Given the description of an element on the screen output the (x, y) to click on. 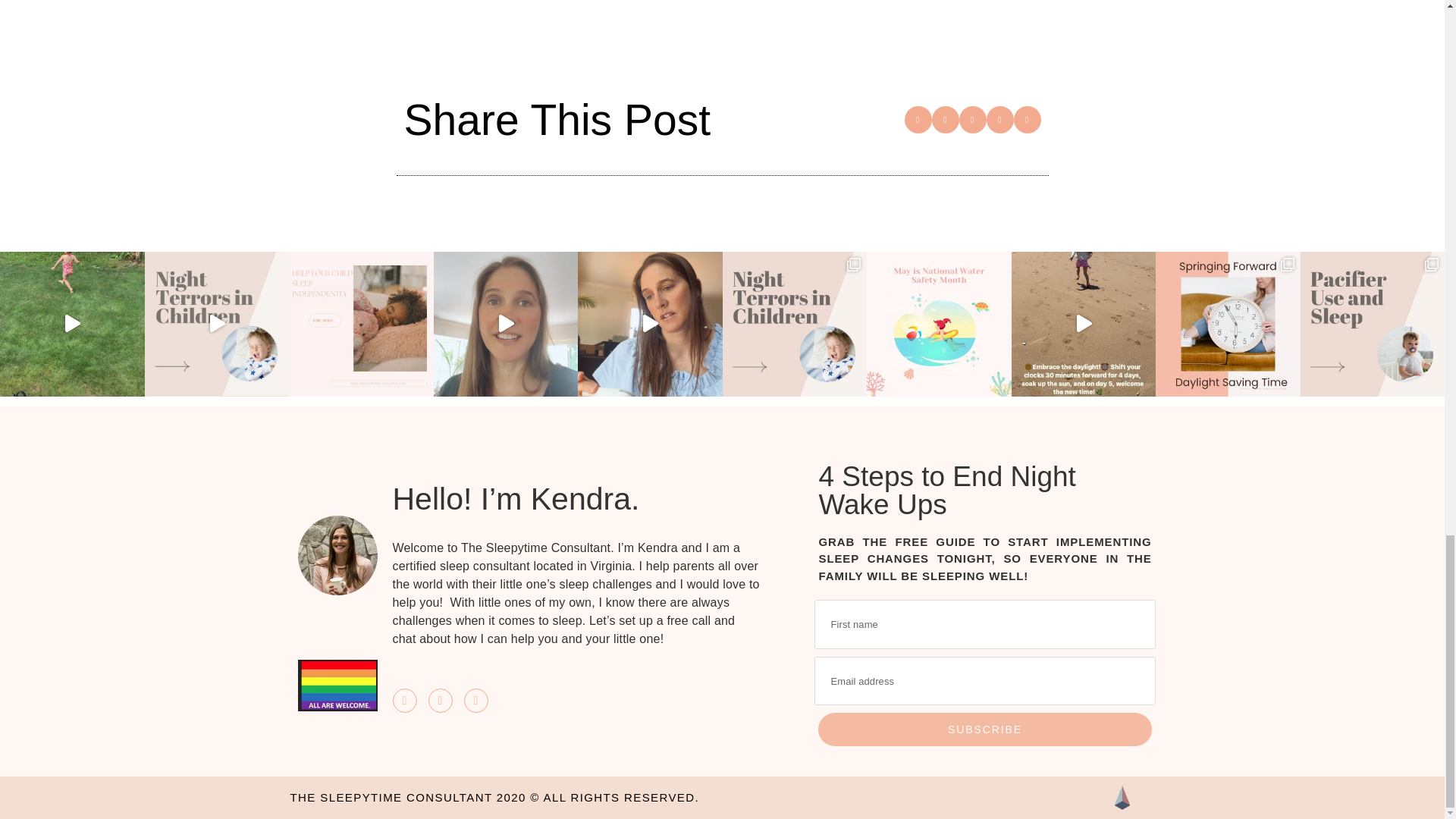
Screen Shot 2020-08-16 at 8.59.44 AM (337, 555)
Facebook-f (404, 700)
Twitter (439, 700)
Instagram (475, 700)
